Given the description of an element on the screen output the (x, y) to click on. 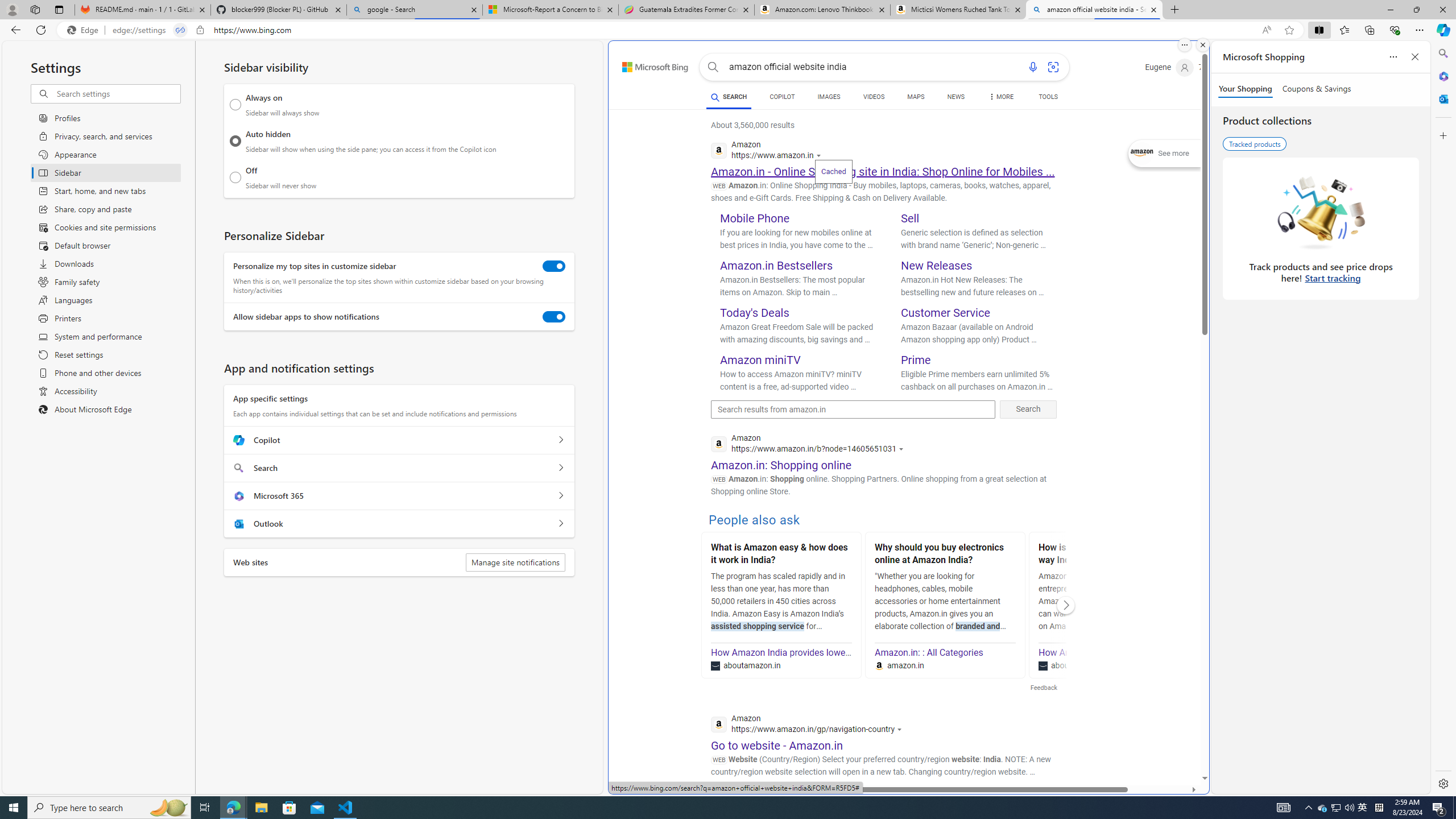
Back to Bing search (648, 64)
Search using an image (1052, 66)
Microsoft 365 (1442, 76)
Go to website - Amazon.in (776, 745)
Tab actions menu (58, 9)
Browser essentials (1394, 29)
Workspaces (34, 9)
Manage site notifications (514, 562)
Search (1442, 53)
MAPS (915, 96)
